Given the description of an element on the screen output the (x, y) to click on. 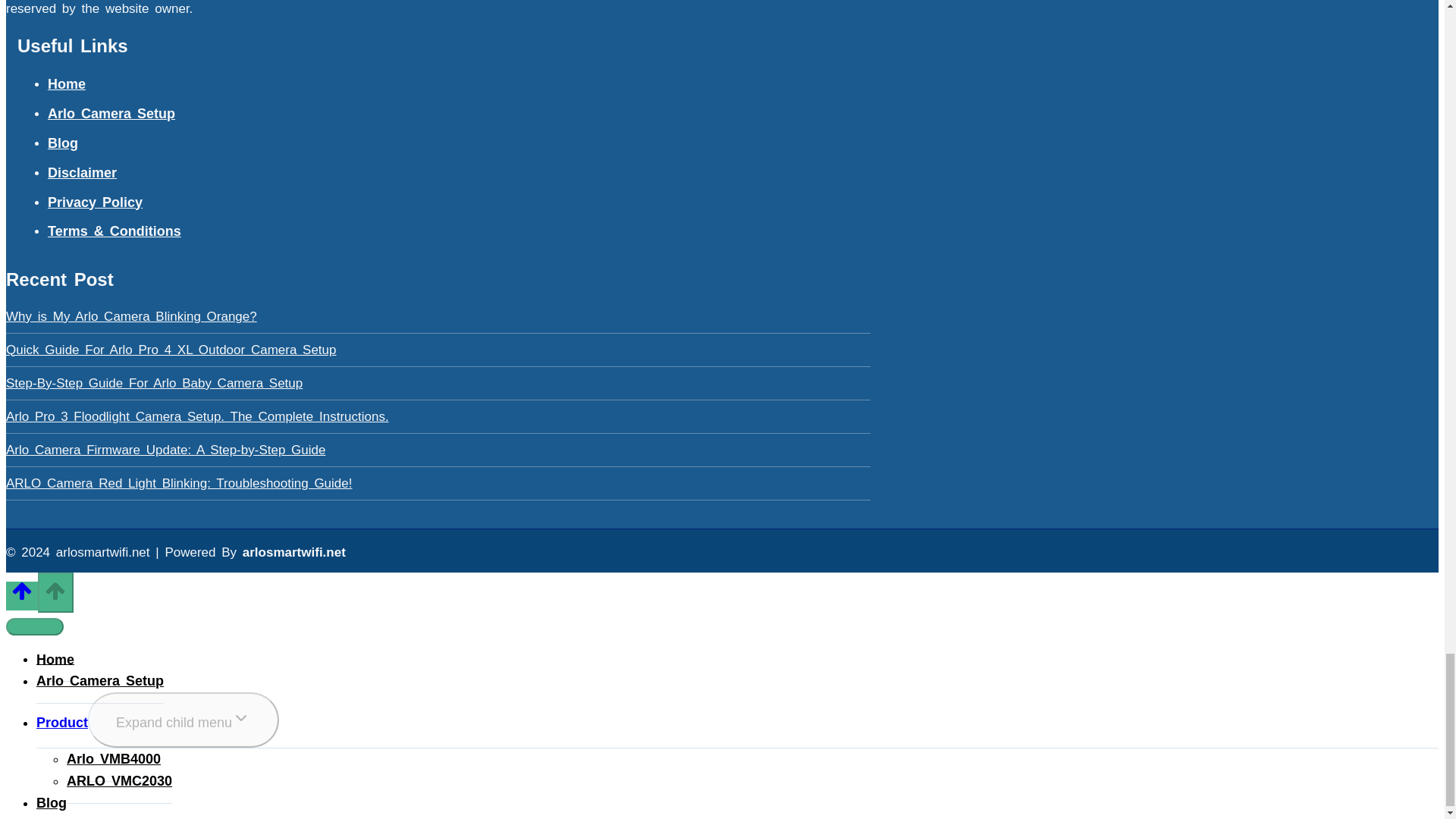
Scroll to top (21, 594)
Expand (240, 718)
Scroll to top (21, 590)
Scroll to top (55, 590)
